Given the description of an element on the screen output the (x, y) to click on. 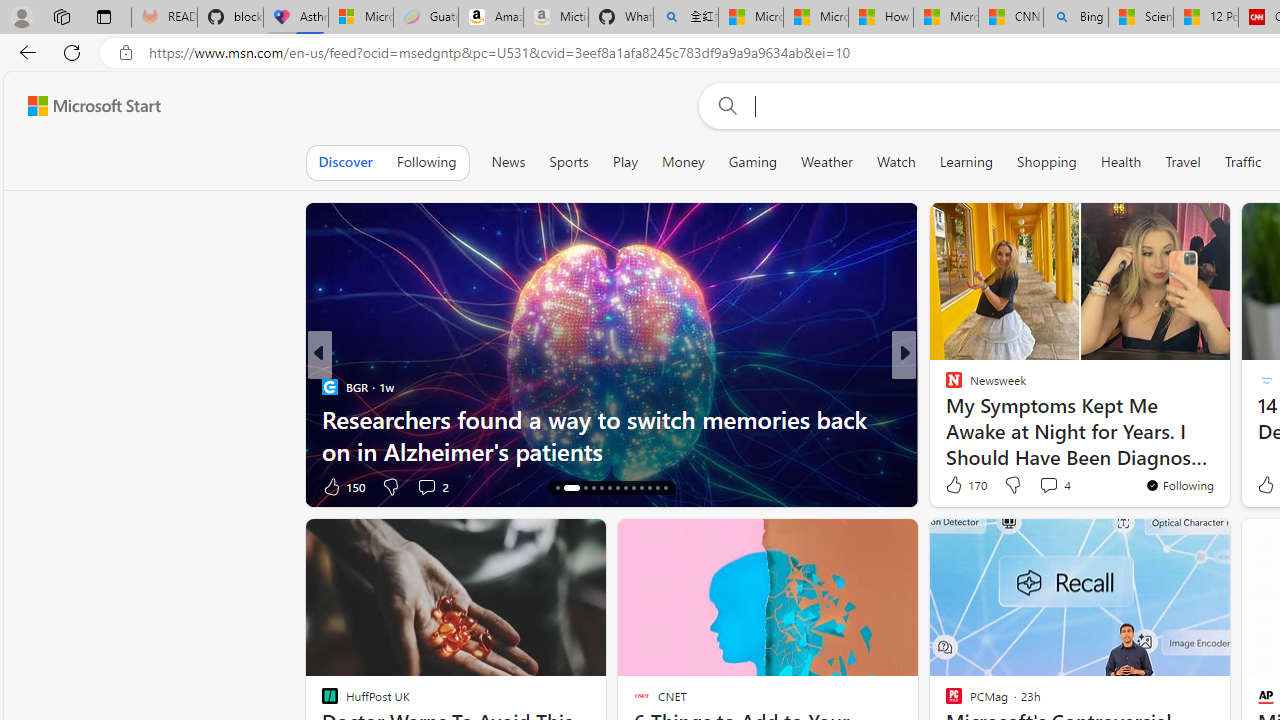
AutomationID: tab-18 (600, 487)
View comments 42 Comment (1051, 486)
AutomationID: tab-15 (564, 487)
View comments 18 Comment (1042, 485)
